Given the description of an element on the screen output the (x, y) to click on. 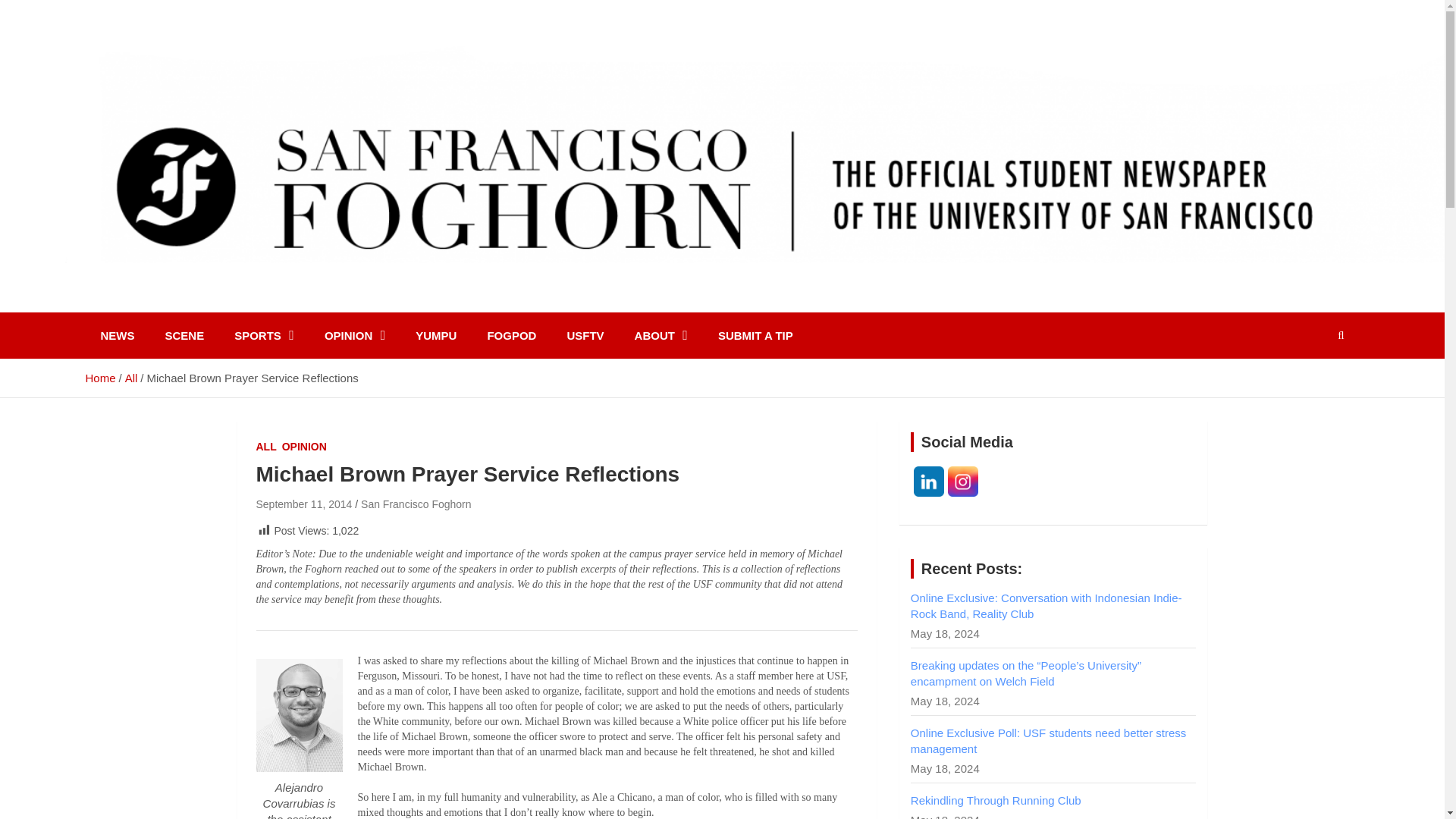
SCENE (184, 335)
LinkedIn (928, 481)
Instagram (962, 481)
Home (99, 377)
San Francisco Foghorn (253, 305)
SUBMIT A TIP (755, 335)
SPORTS (263, 335)
ALL (266, 447)
September 11, 2014 (304, 503)
San Francisco Foghorn (416, 503)
YUMPU (435, 335)
OPINION (304, 447)
ABOUT (661, 335)
OPINION (354, 335)
